Given the description of an element on the screen output the (x, y) to click on. 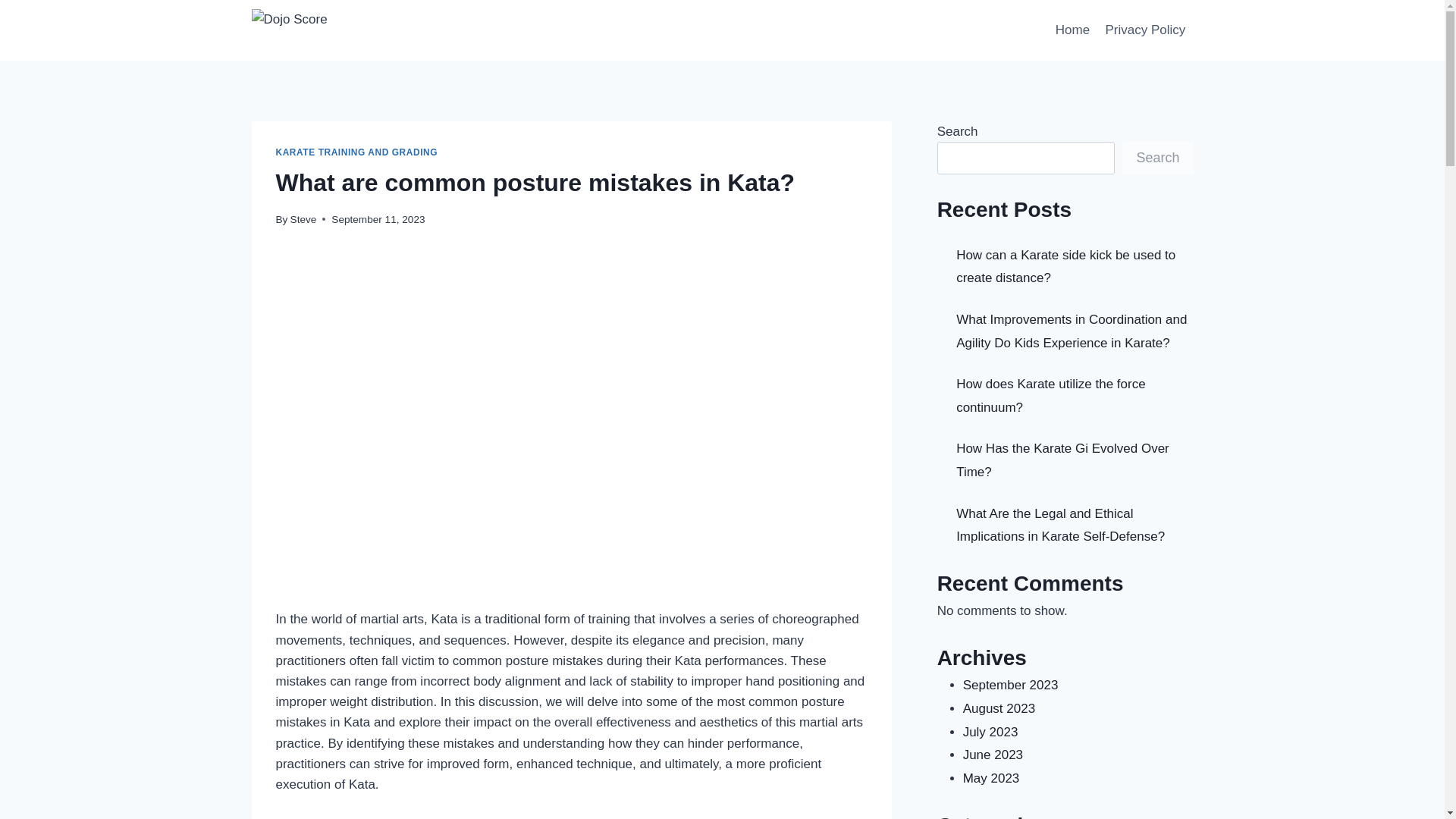
Privacy Policy (1144, 30)
KARATE TRAINING AND GRADING (357, 152)
Steve (303, 219)
Home (1072, 30)
